Given the description of an element on the screen output the (x, y) to click on. 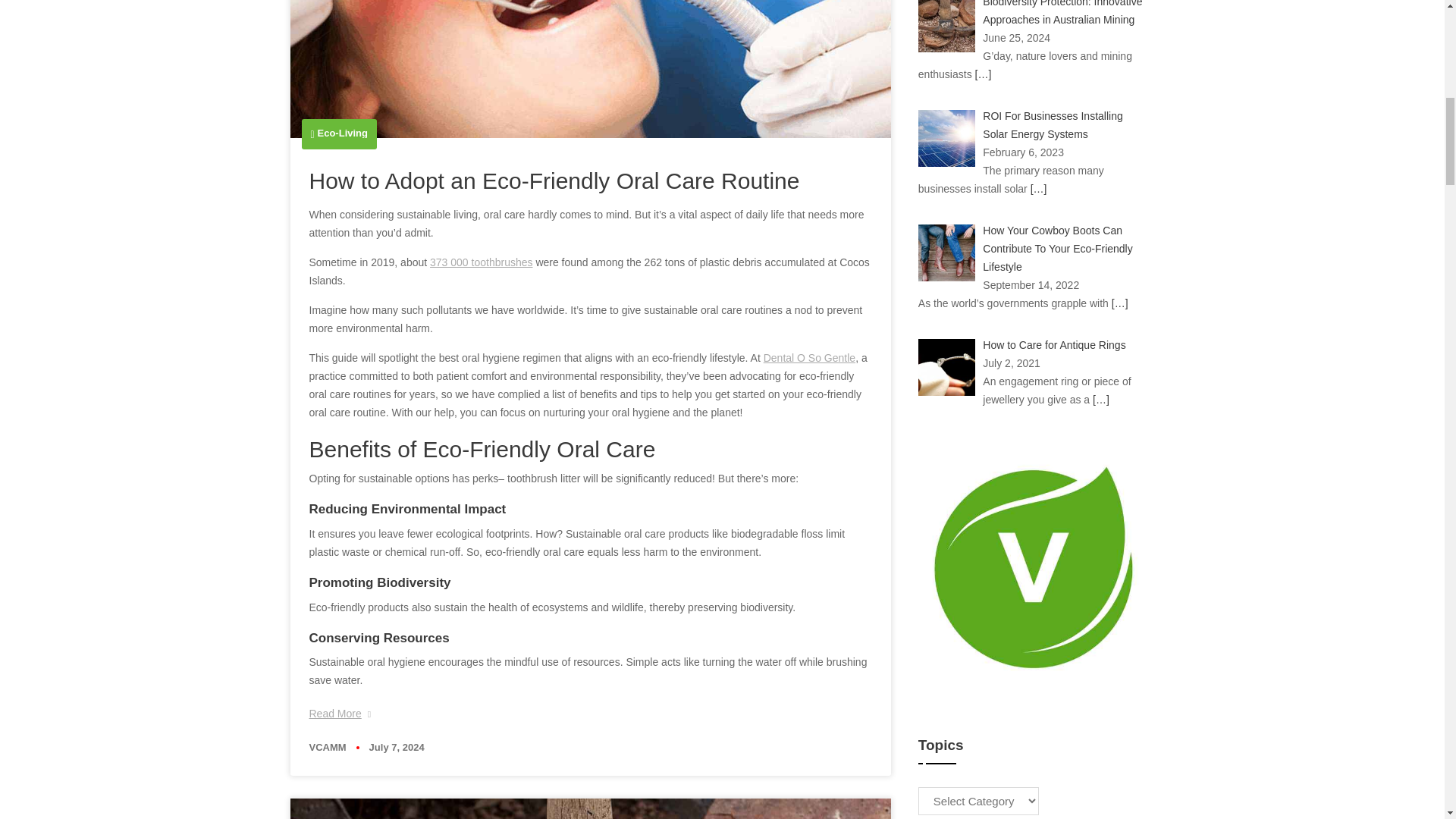
VCAMM (327, 747)
How to Adopt an Eco-Friendly Oral Care Routine (553, 180)
373 000 toothbrushes (480, 262)
Read More (339, 713)
Eco-Living (342, 132)
Dental O So Gentle (809, 357)
July 7, 2024 (397, 747)
